Given the description of an element on the screen output the (x, y) to click on. 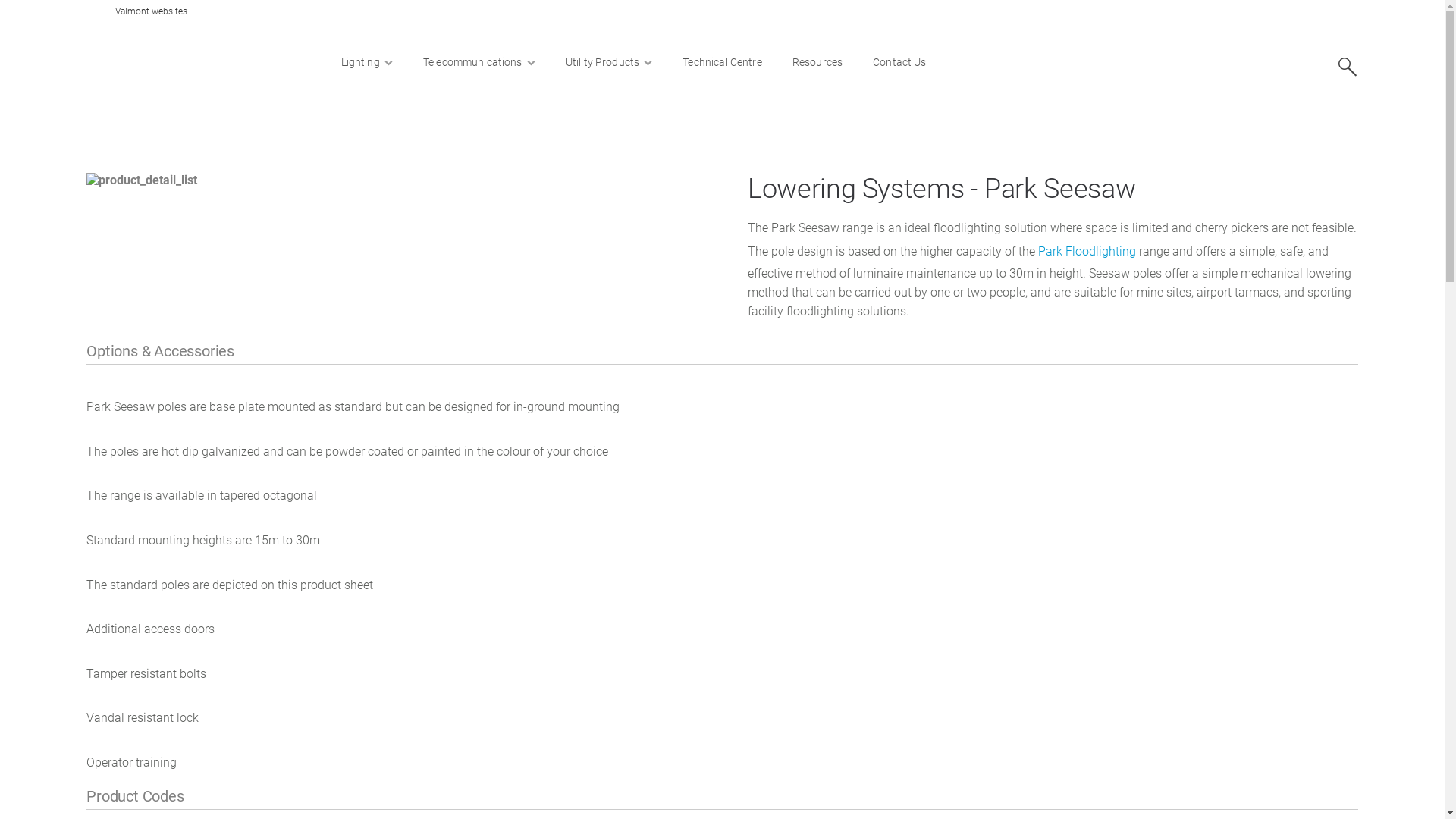
Park Floodlighting Element type: text (1086, 250)
Home Element type: text (116, 131)
Contact Us Element type: text (899, 62)
Lowering Systems Element type: text (280, 131)
Technical Centre Element type: text (721, 62)
Lighting Element type: text (366, 62)
product_detail_list Element type: hover (391, 179)
Resources Element type: text (817, 62)
Utility Products Element type: text (608, 62)
Telecommunications Element type: text (479, 62)
Lighting Products Element type: text (185, 131)
Park Seesaw Element type: text (364, 131)
